Given the description of an element on the screen output the (x, y) to click on. 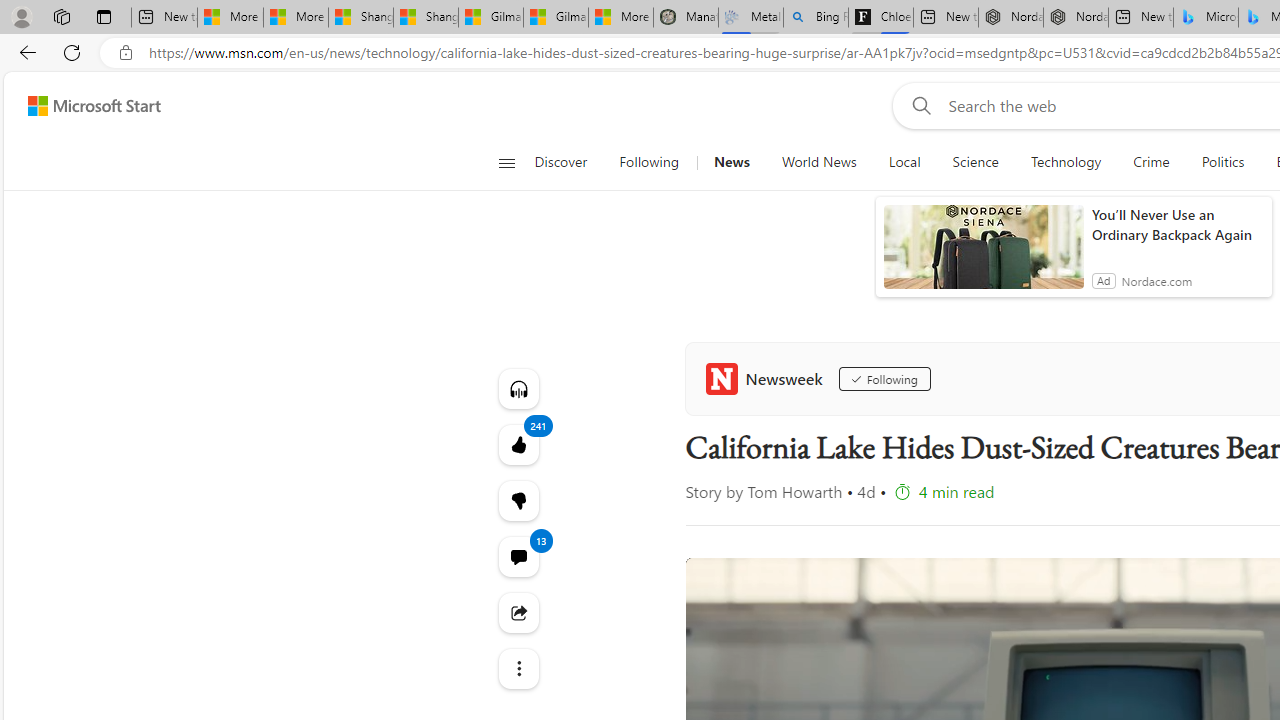
World News (818, 162)
anim-content (983, 255)
Share this story (517, 612)
Science (975, 162)
Local (904, 162)
Bing Real Estate - Home sales and rental listings (815, 17)
